Given the description of an element on the screen output the (x, y) to click on. 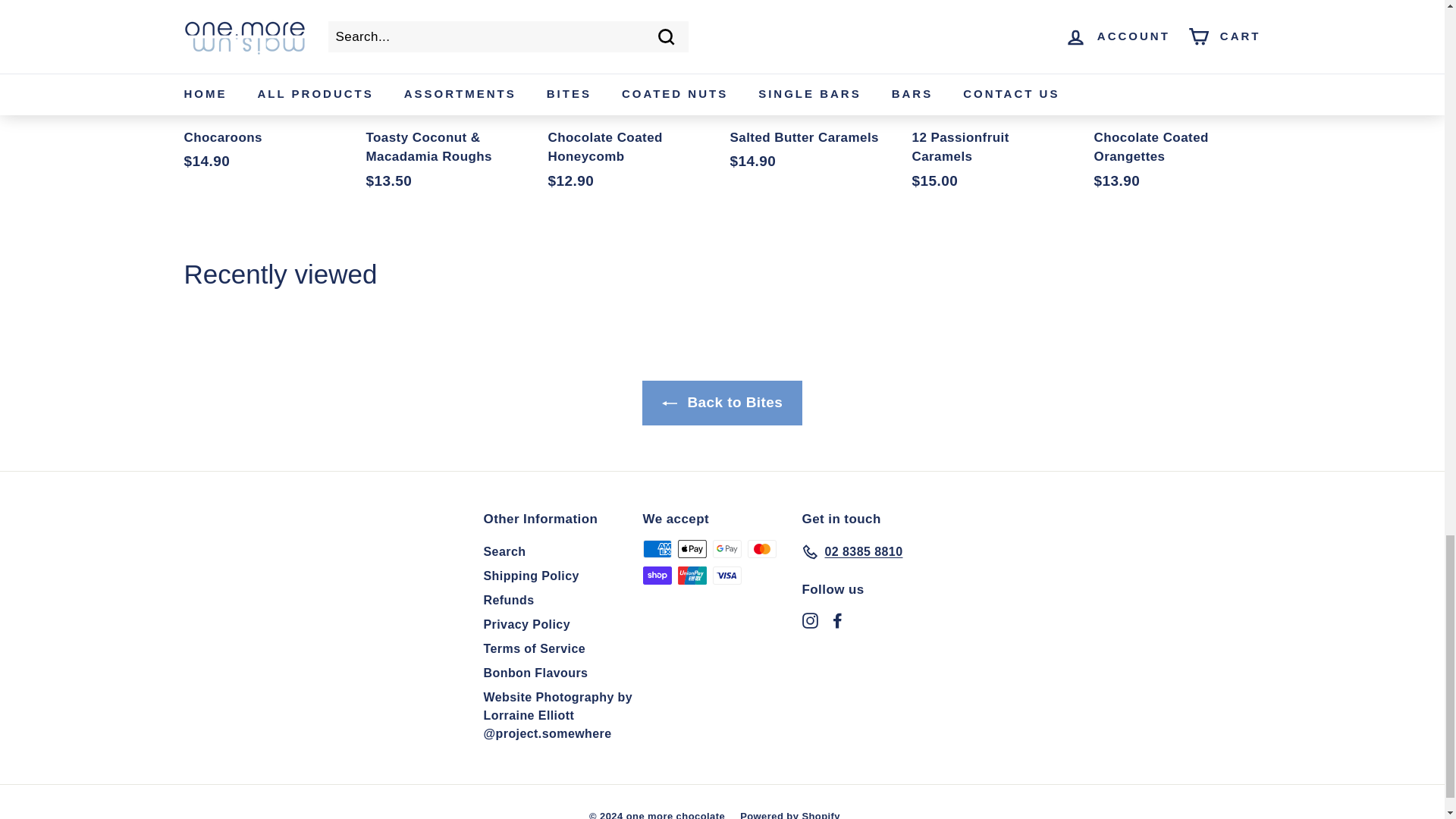
one more chocolate on Facebook (837, 619)
one more chocolate on Instagram (810, 619)
Union Pay (692, 575)
Google Pay (727, 548)
Shop Pay (657, 575)
Visa (727, 575)
American Express (657, 548)
Mastercard (762, 548)
Apple Pay (692, 548)
